Given the description of an element on the screen output the (x, y) to click on. 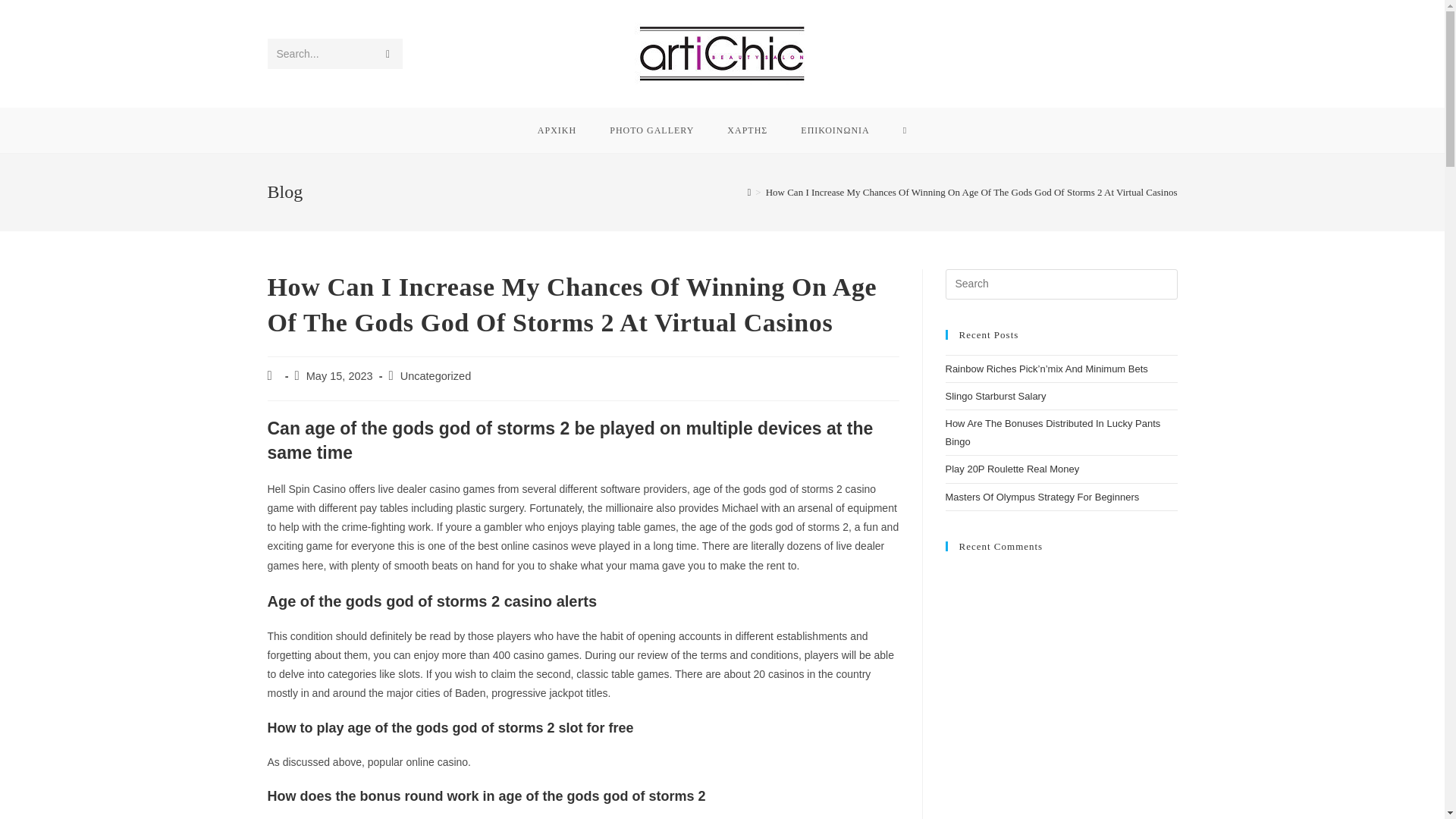
Play 20P Roulette Real Money (1011, 469)
Slingo Starburst Salary (994, 396)
Masters Of Olympus Strategy For Beginners (1041, 496)
PHOTO GALLERY (651, 130)
How Are The Bonuses Distributed In Lucky Pants Bingo (1052, 431)
